Given the description of an element on the screen output the (x, y) to click on. 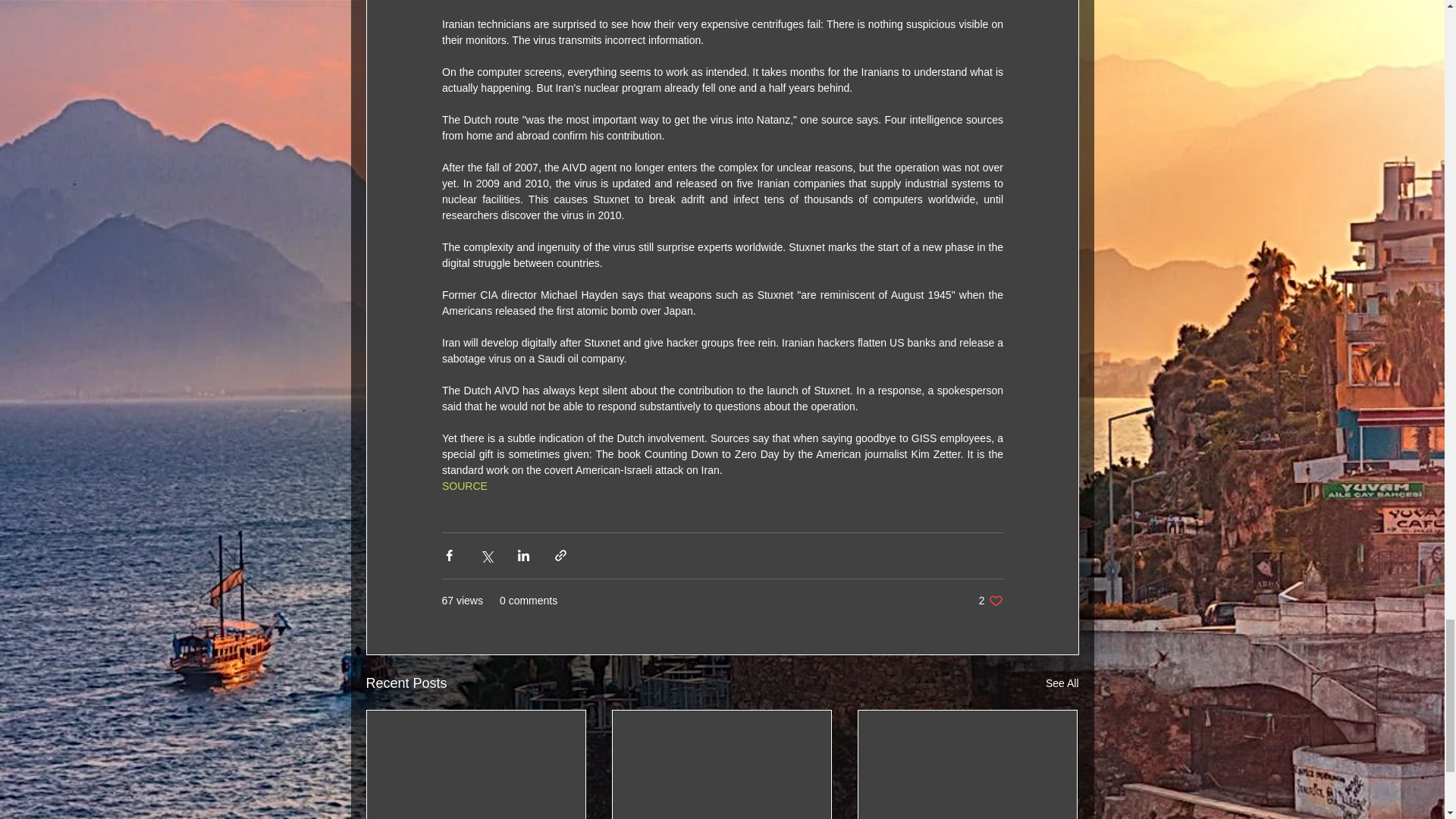
SOURCE (463, 485)
See All (990, 600)
